Given the description of an element on the screen output the (x, y) to click on. 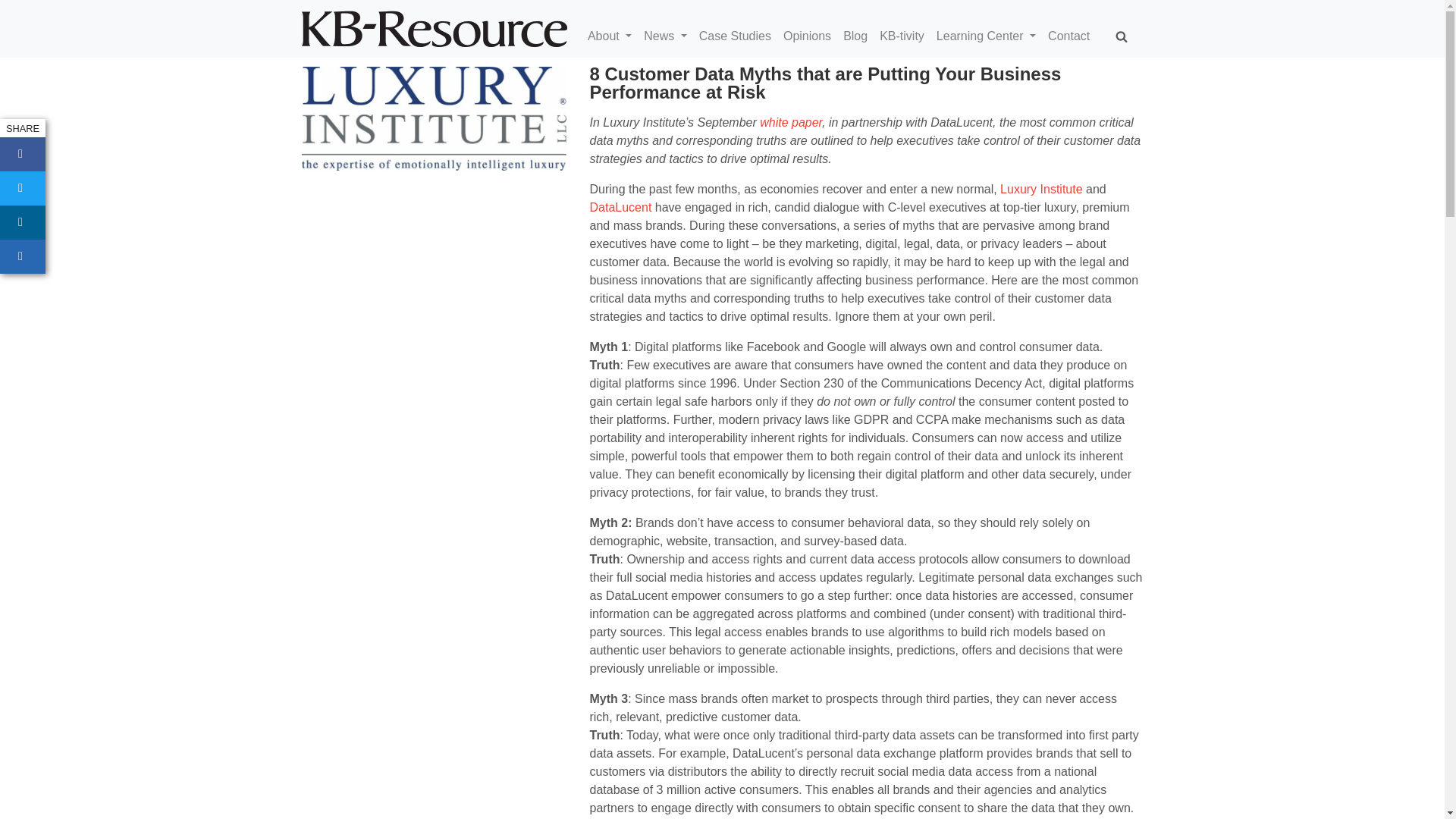
About (615, 35)
Blog (861, 35)
Case Studies (740, 35)
KB-tivity (907, 35)
white paper (791, 122)
Luxury Institute (1041, 188)
DataLucent (619, 206)
Learning Center (992, 35)
News (670, 35)
Opinions (813, 35)
